Given the description of an element on the screen output the (x, y) to click on. 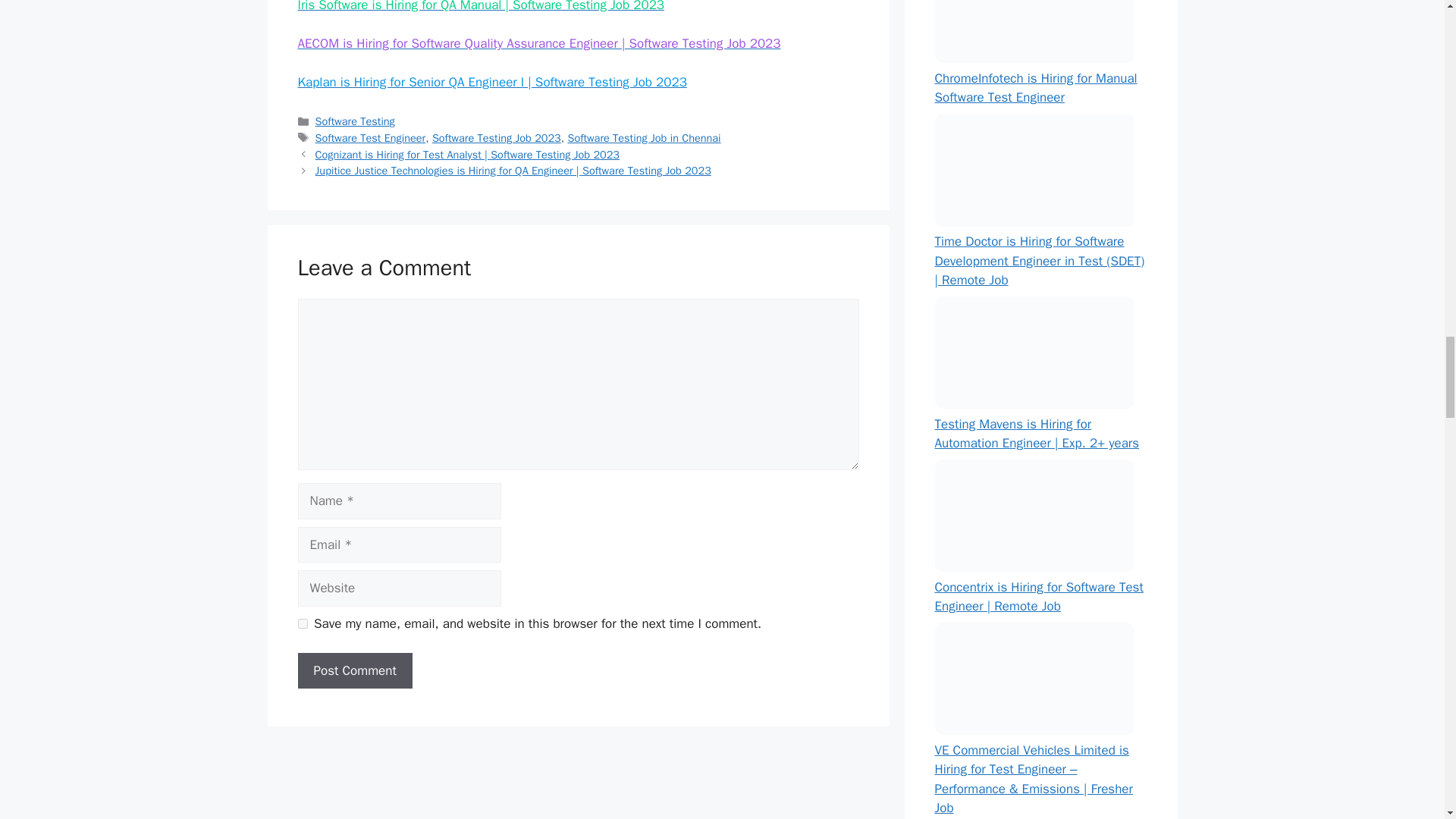
Software Testing Job 2023 (496, 137)
Post Comment (354, 670)
Software Testing (354, 120)
yes (302, 623)
Software Testing Job in Chennai (643, 137)
Software Test Engineer (370, 137)
Post Comment (354, 670)
